Given the description of an element on the screen output the (x, y) to click on. 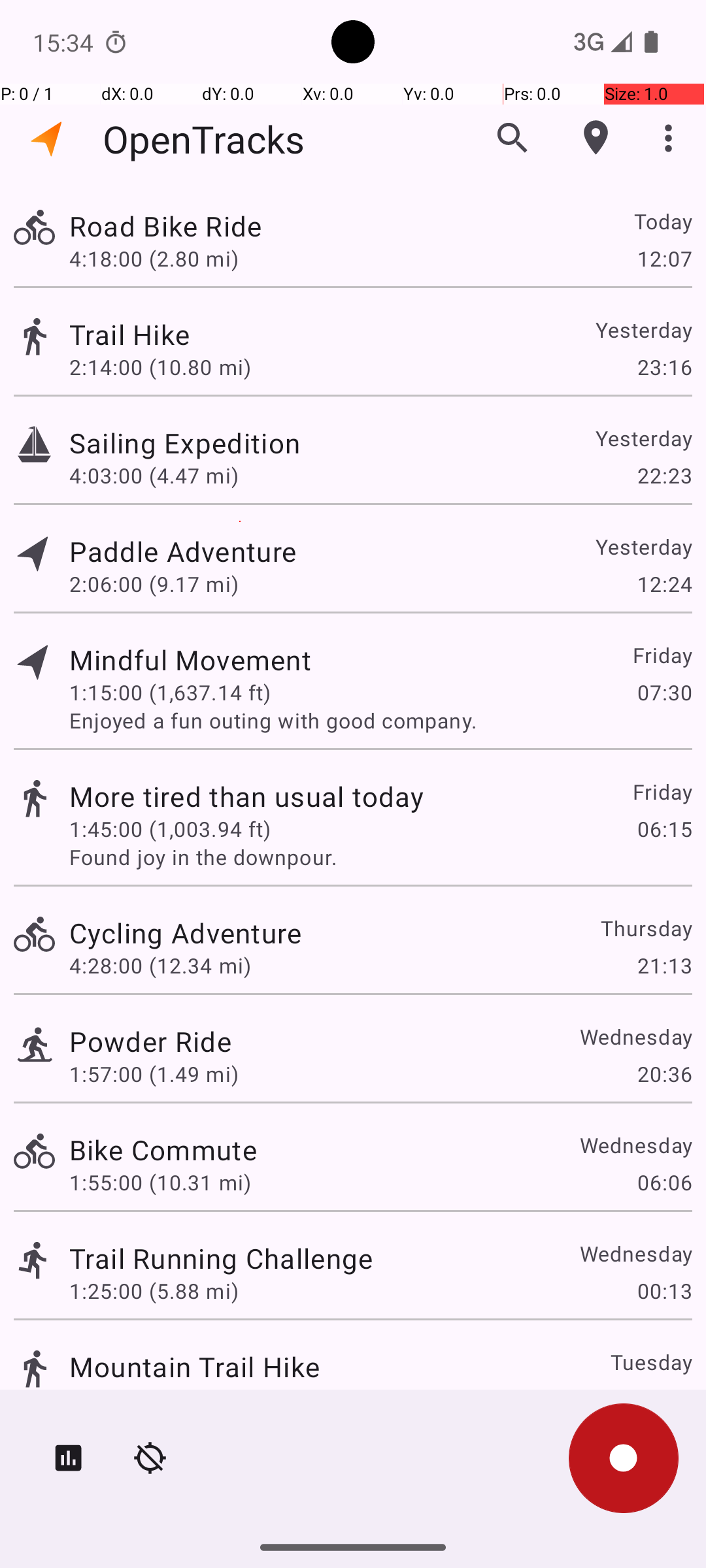
Road Bike Ride Element type: android.widget.TextView (165, 225)
4:18:00 (2.80 mi) Element type: android.widget.TextView (153, 258)
12:07 Element type: android.widget.TextView (664, 258)
Trail Hike Element type: android.widget.TextView (129, 333)
2:14:00 (10.80 mi) Element type: android.widget.TextView (159, 366)
23:16 Element type: android.widget.TextView (664, 366)
Sailing Expedition Element type: android.widget.TextView (184, 442)
4:03:00 (4.47 mi) Element type: android.widget.TextView (153, 475)
22:23 Element type: android.widget.TextView (664, 475)
Paddle Adventure Element type: android.widget.TextView (182, 550)
2:06:00 (9.17 mi) Element type: android.widget.TextView (153, 583)
12:24 Element type: android.widget.TextView (664, 583)
Mindful Movement Element type: android.widget.TextView (189, 659)
1:15:00 (1,637.14 ft) Element type: android.widget.TextView (169, 692)
07:30 Element type: android.widget.TextView (664, 692)
Enjoyed a fun outing with good company. Element type: android.widget.TextView (380, 720)
More tired than usual today Element type: android.widget.TextView (246, 795)
1:45:00 (1,003.94 ft) Element type: android.widget.TextView (169, 828)
06:15 Element type: android.widget.TextView (664, 828)
Found joy in the downpour. Element type: android.widget.TextView (380, 856)
Cycling Adventure Element type: android.widget.TextView (185, 932)
4:28:00 (12.34 mi) Element type: android.widget.TextView (159, 965)
21:13 Element type: android.widget.TextView (664, 965)
Powder Ride Element type: android.widget.TextView (150, 1040)
1:57:00 (1.49 mi) Element type: android.widget.TextView (153, 1073)
20:36 Element type: android.widget.TextView (664, 1073)
Bike Commute Element type: android.widget.TextView (162, 1149)
1:55:00 (10.31 mi) Element type: android.widget.TextView (159, 1182)
06:06 Element type: android.widget.TextView (664, 1182)
Trail Running Challenge Element type: android.widget.TextView (220, 1257)
1:25:00 (5.88 mi) Element type: android.widget.TextView (153, 1290)
00:13 Element type: android.widget.TextView (664, 1290)
Mountain Trail Hike Element type: android.widget.TextView (194, 1366)
1:05:00 (8.60 mi) Element type: android.widget.TextView (153, 1399)
13:32 Element type: android.widget.TextView (664, 1399)
